Given the description of an element on the screen output the (x, y) to click on. 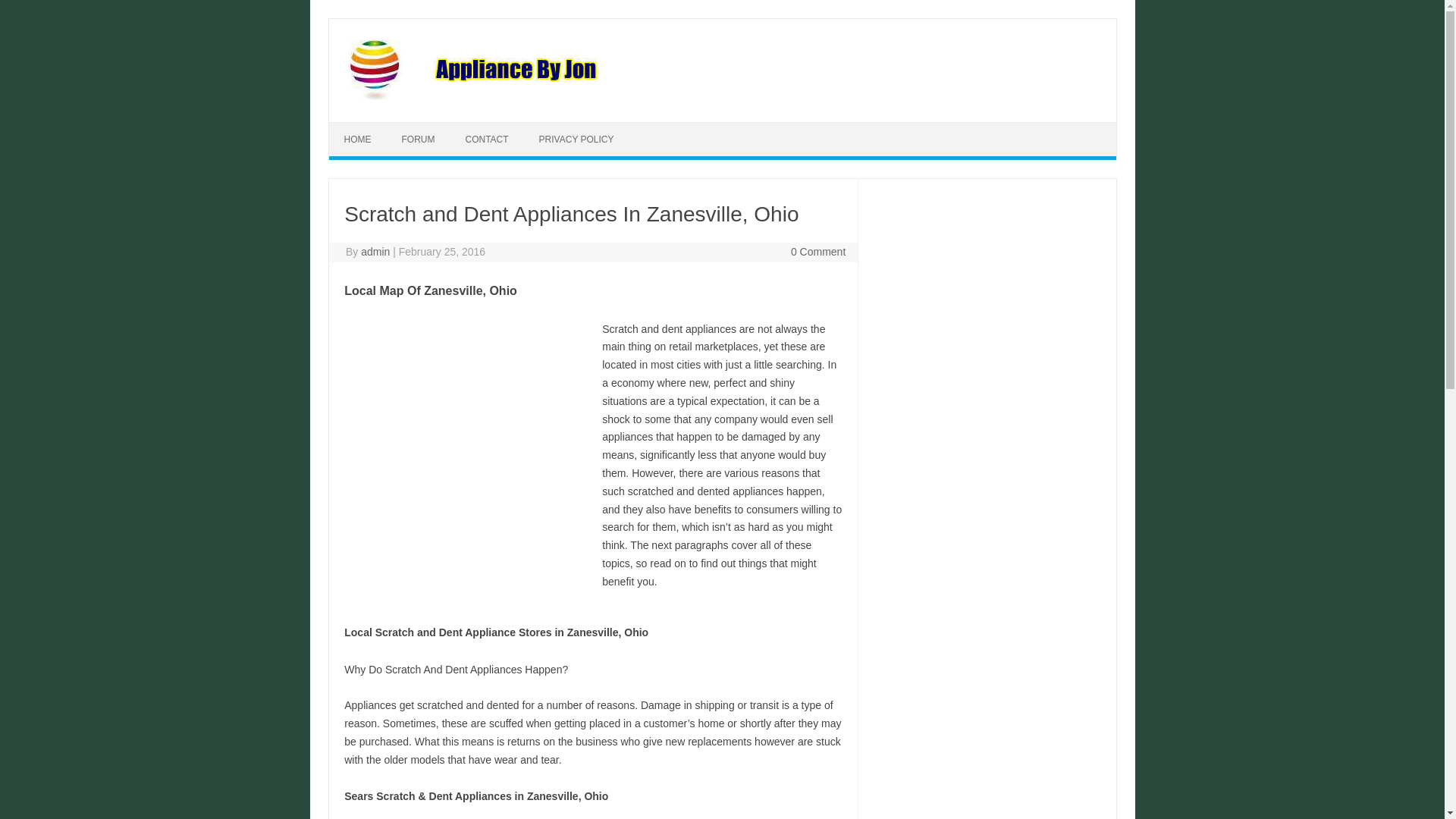
Posts by admin (375, 251)
FORUM (418, 139)
0 Comment (817, 251)
admin (375, 251)
HOME (358, 139)
Appliance By Jon (568, 96)
CONTACT (486, 139)
PRIVACY POLICY (576, 139)
